Given the description of an element on the screen output the (x, y) to click on. 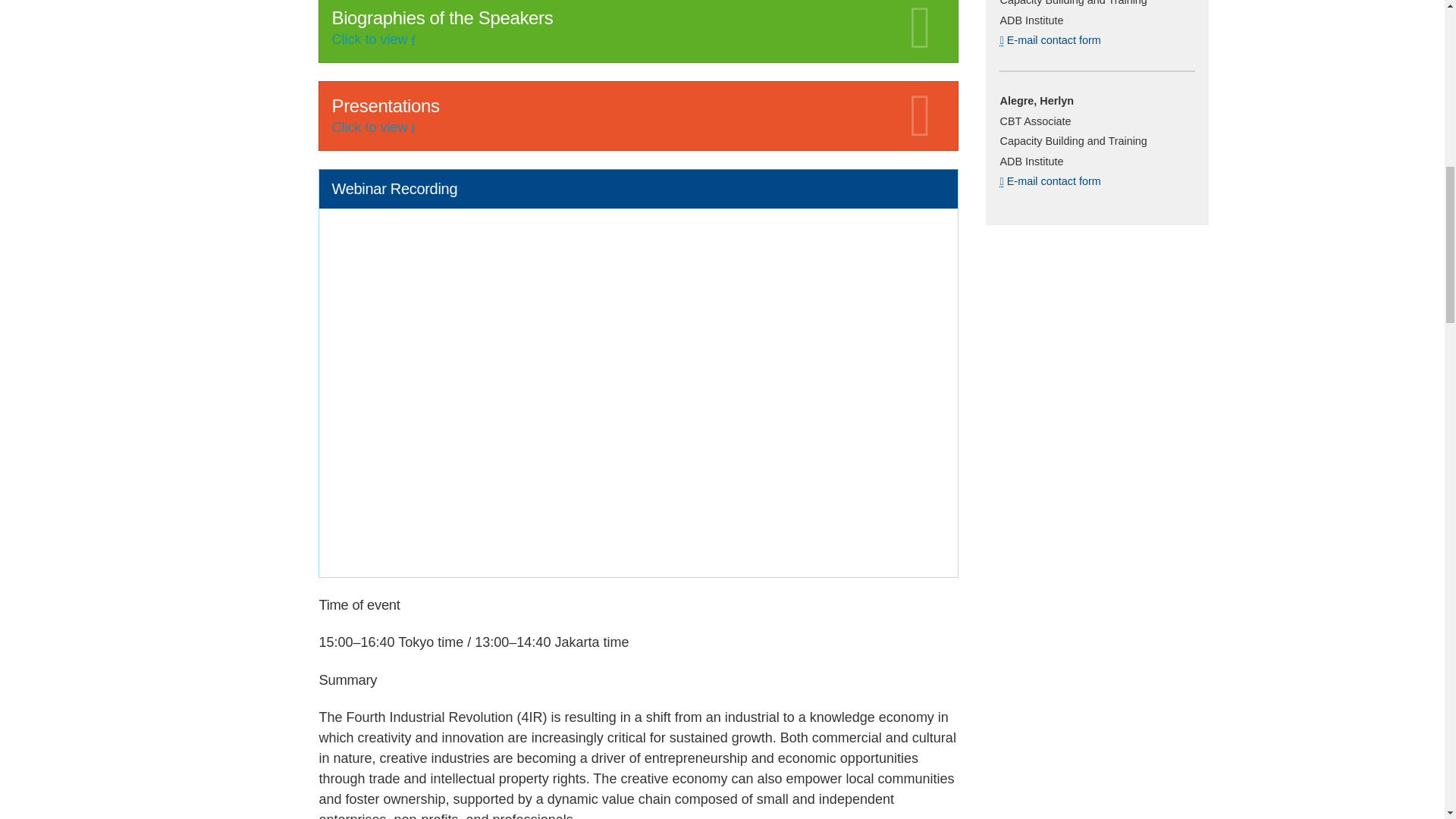
E-mail (1000, 181)
Send e-mail (1072, 181)
E-mail (1000, 40)
Send e-mail (1072, 40)
